Given the description of an element on the screen output the (x, y) to click on. 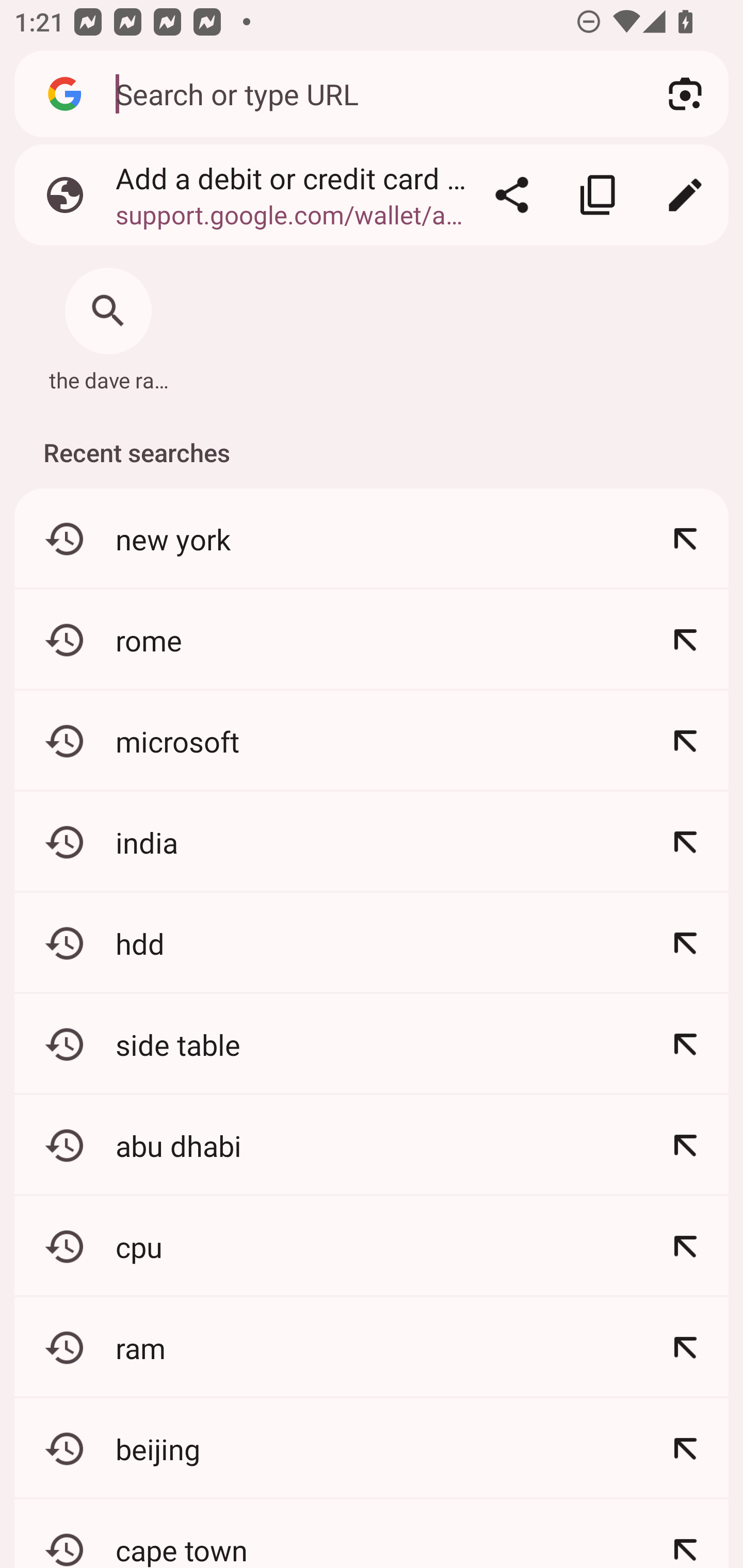
Search with your camera using Google Lens (684, 93)
Search or type URL (367, 92)
Share… (511, 195)
Copy link (598, 195)
Edit (684, 195)
Search: the dave ramsey show the dave ramsey show (108, 324)
new york Refine: new york (371, 539)
Refine: new york (684, 539)
rome Refine: rome (371, 639)
Refine: rome (684, 639)
microsoft Refine: microsoft (371, 740)
Refine: microsoft (684, 740)
india Refine: india (371, 841)
Refine: india (684, 841)
hdd Refine: hdd (371, 943)
Refine: hdd (684, 943)
side table Refine: side table (371, 1044)
Refine: side table (684, 1044)
abu dhabi Refine: abu dhabi (371, 1145)
Refine: abu dhabi (684, 1145)
cpu Refine: cpu (371, 1246)
Refine: cpu (684, 1246)
ram Refine: ram (371, 1347)
Refine: ram (684, 1347)
beijing Refine: beijing (371, 1448)
Refine: beijing (684, 1448)
cape town Refine: cape town (371, 1533)
Refine: cape town (684, 1533)
